Given the description of an element on the screen output the (x, y) to click on. 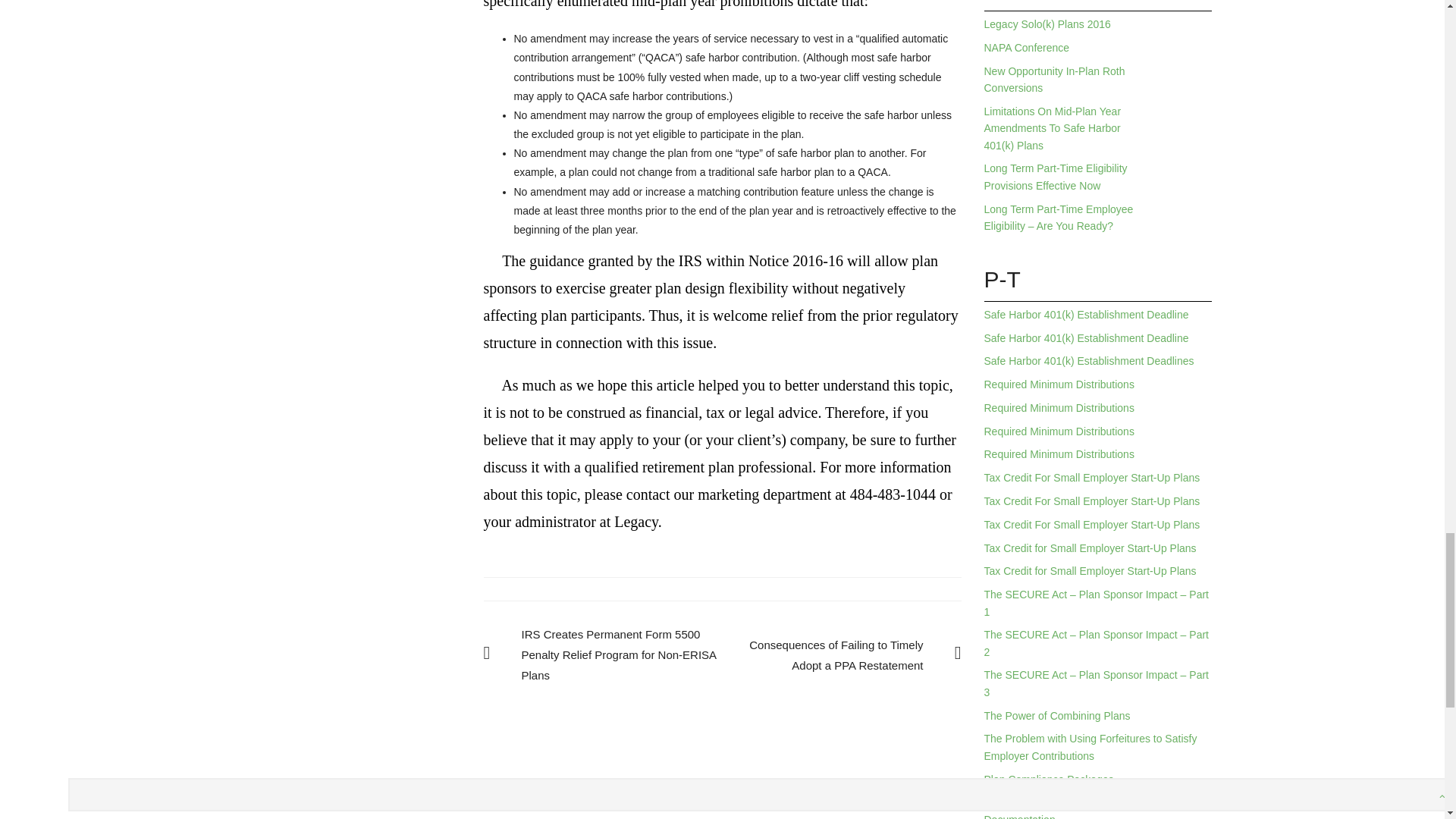
Consequences of Failing to Timely Adopt a PPA Restatement (841, 655)
